Given the description of an element on the screen output the (x, y) to click on. 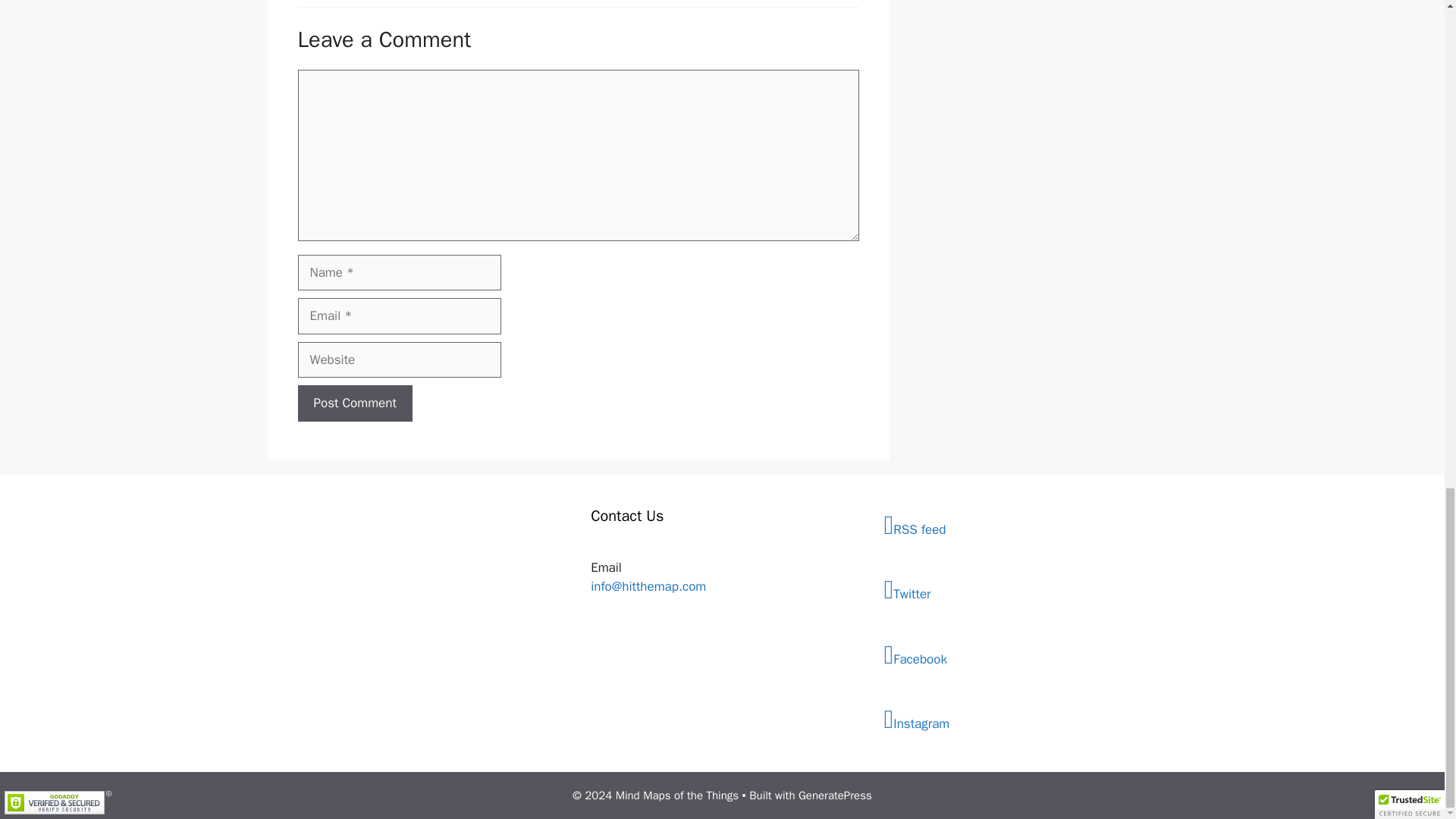
Visit Mind Maps of the Things on RSS feed (1015, 525)
Visit Mind Maps of the Things on Twitter (1015, 590)
Post Comment (354, 402)
Visit Mind Maps of the Things on Facebook (1015, 655)
Visit Mind Maps of the Things on Instagram (1015, 719)
Post Comment (354, 402)
